Given the description of an element on the screen output the (x, y) to click on. 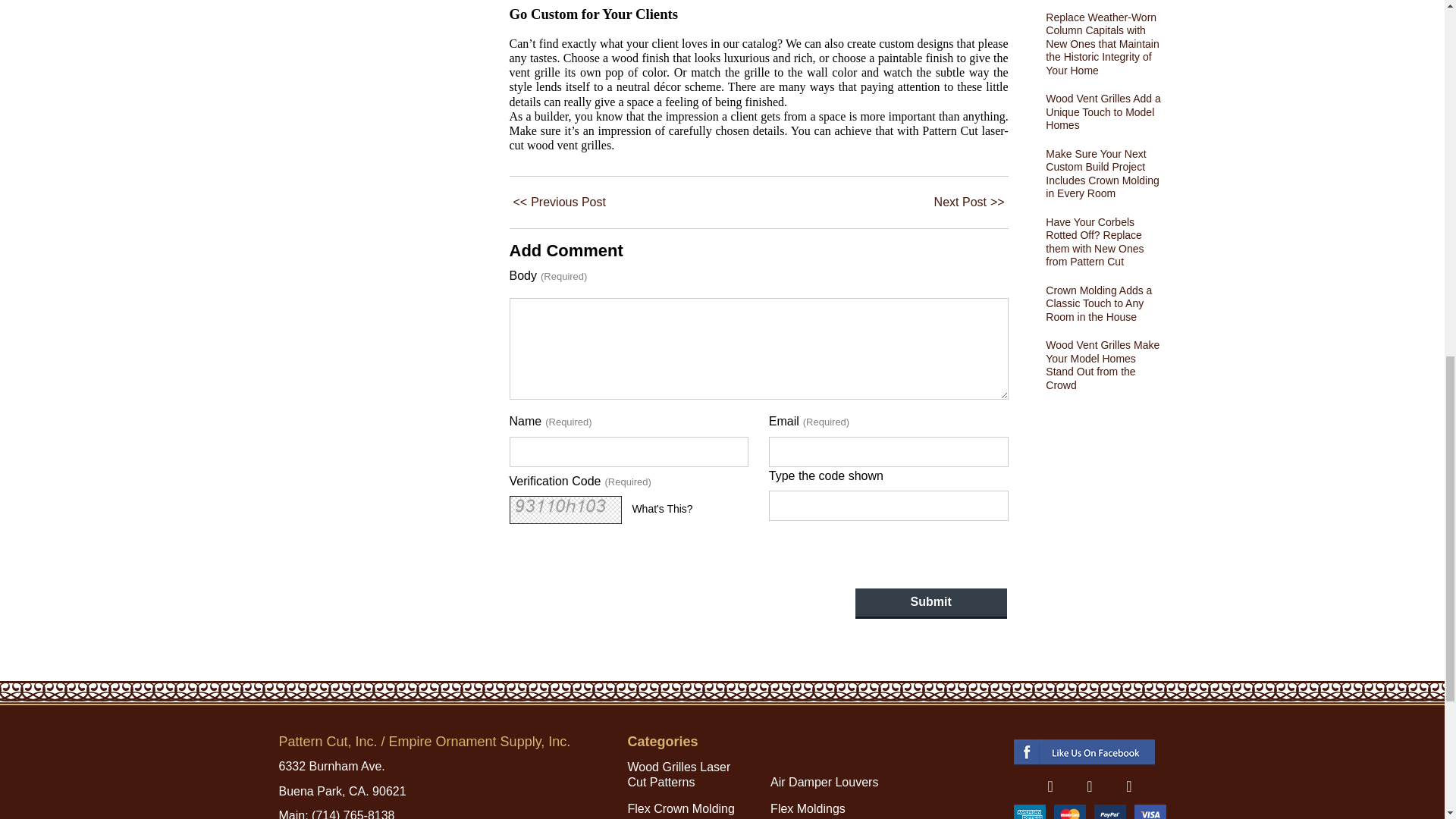
Submit (931, 603)
Like Us on Facebook (1050, 785)
Subscribe to our Channel (1089, 785)
Follow Us on Instagram (1129, 785)
